Given the description of an element on the screen output the (x, y) to click on. 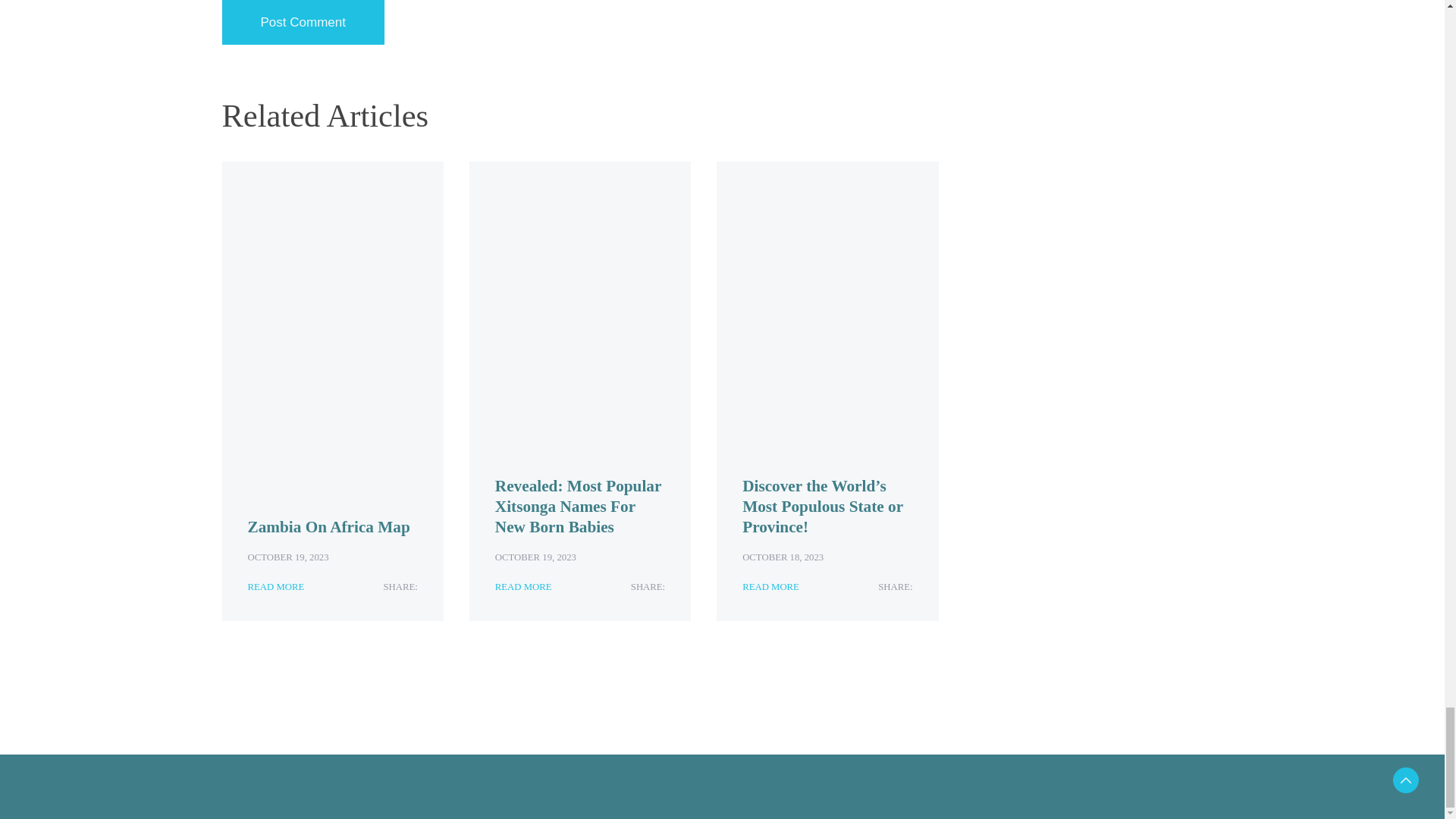
Post Comment (302, 22)
